Given the description of an element on the screen output the (x, y) to click on. 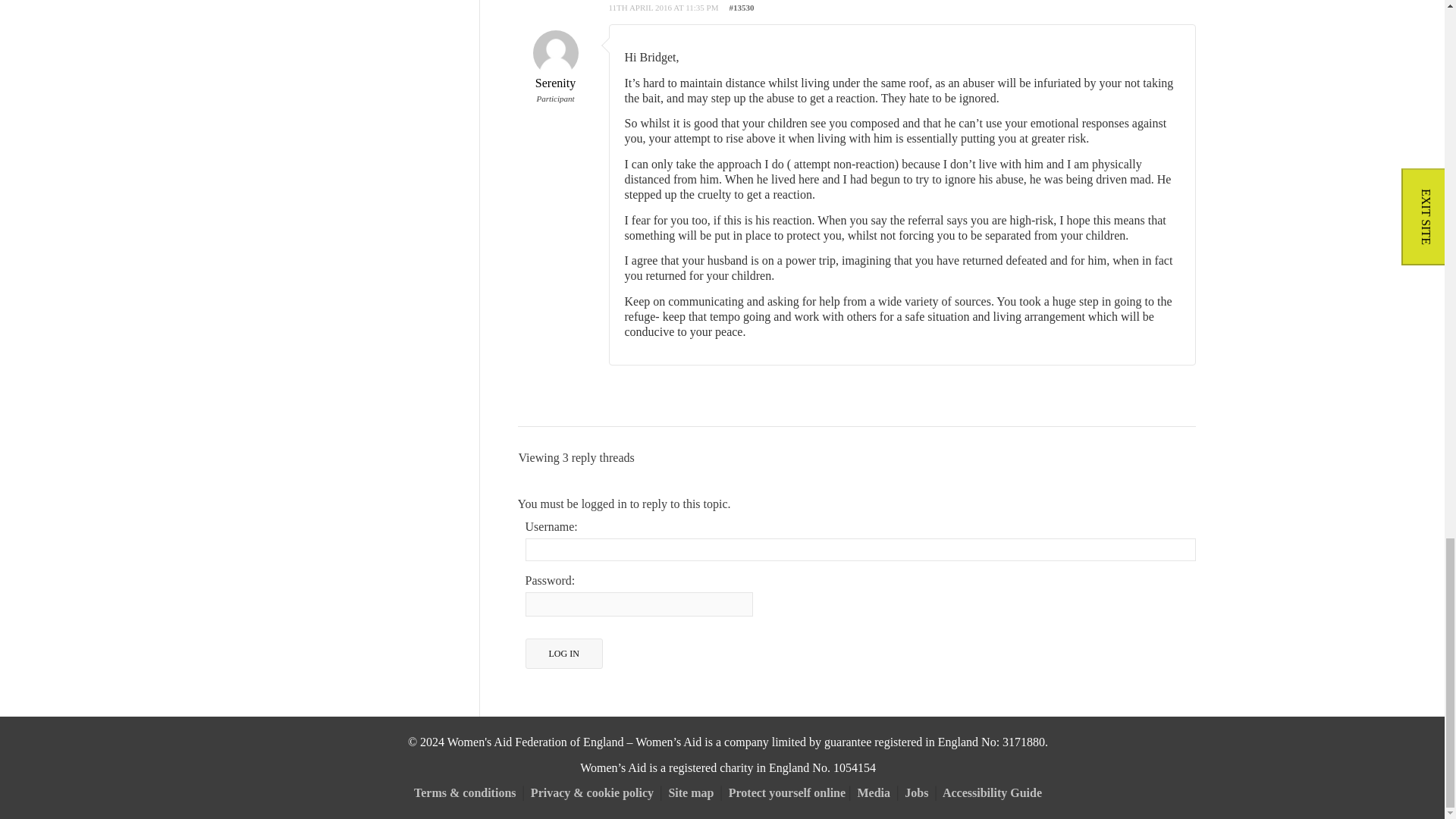
Serenity (554, 67)
LOG IN (563, 653)
